Given the description of an element on the screen output the (x, y) to click on. 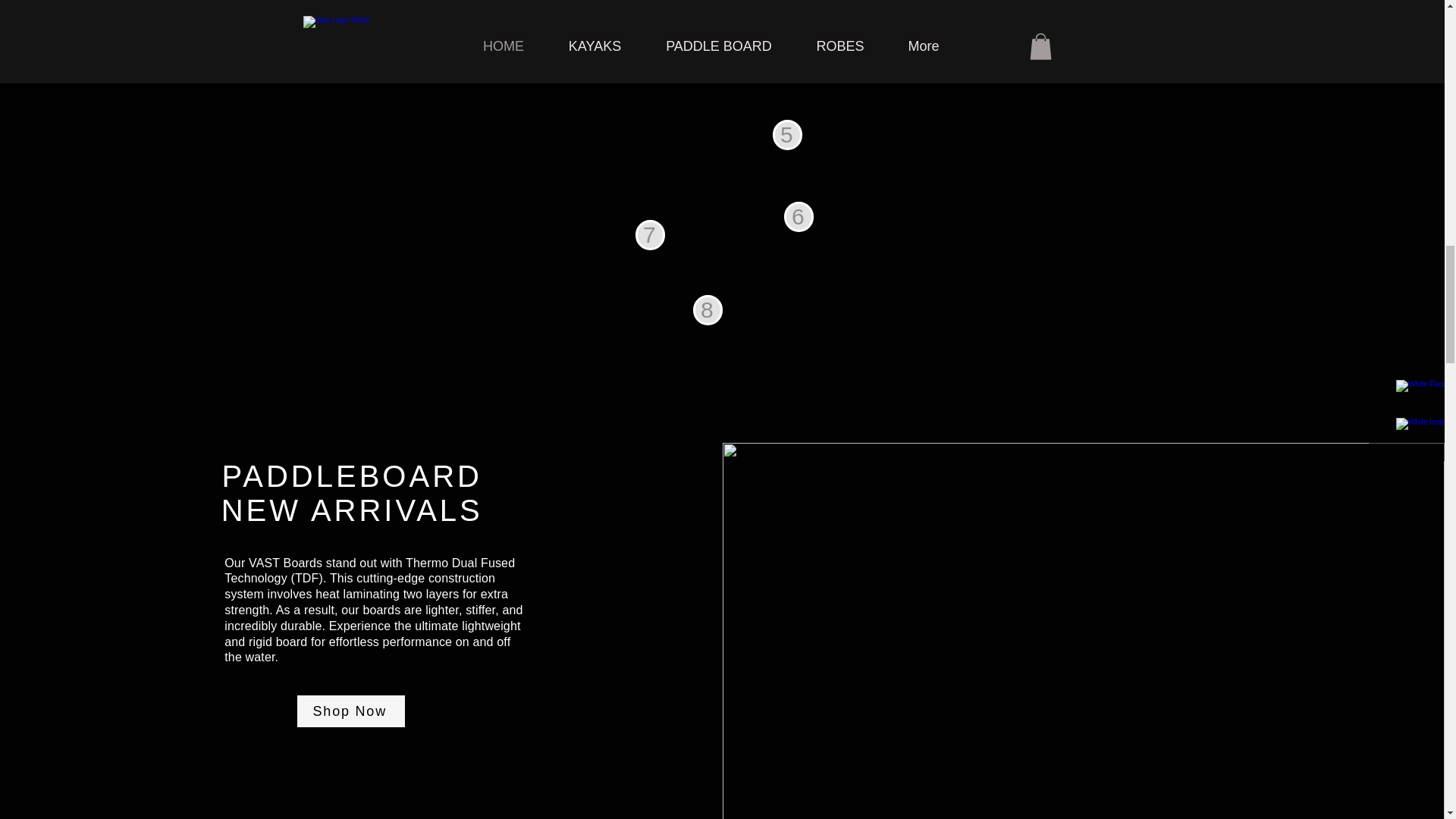
Shop Now (350, 711)
4 (702, 27)
6 (798, 216)
8 (707, 309)
7 (649, 235)
5 (786, 134)
